Given the description of an element on the screen output the (x, y) to click on. 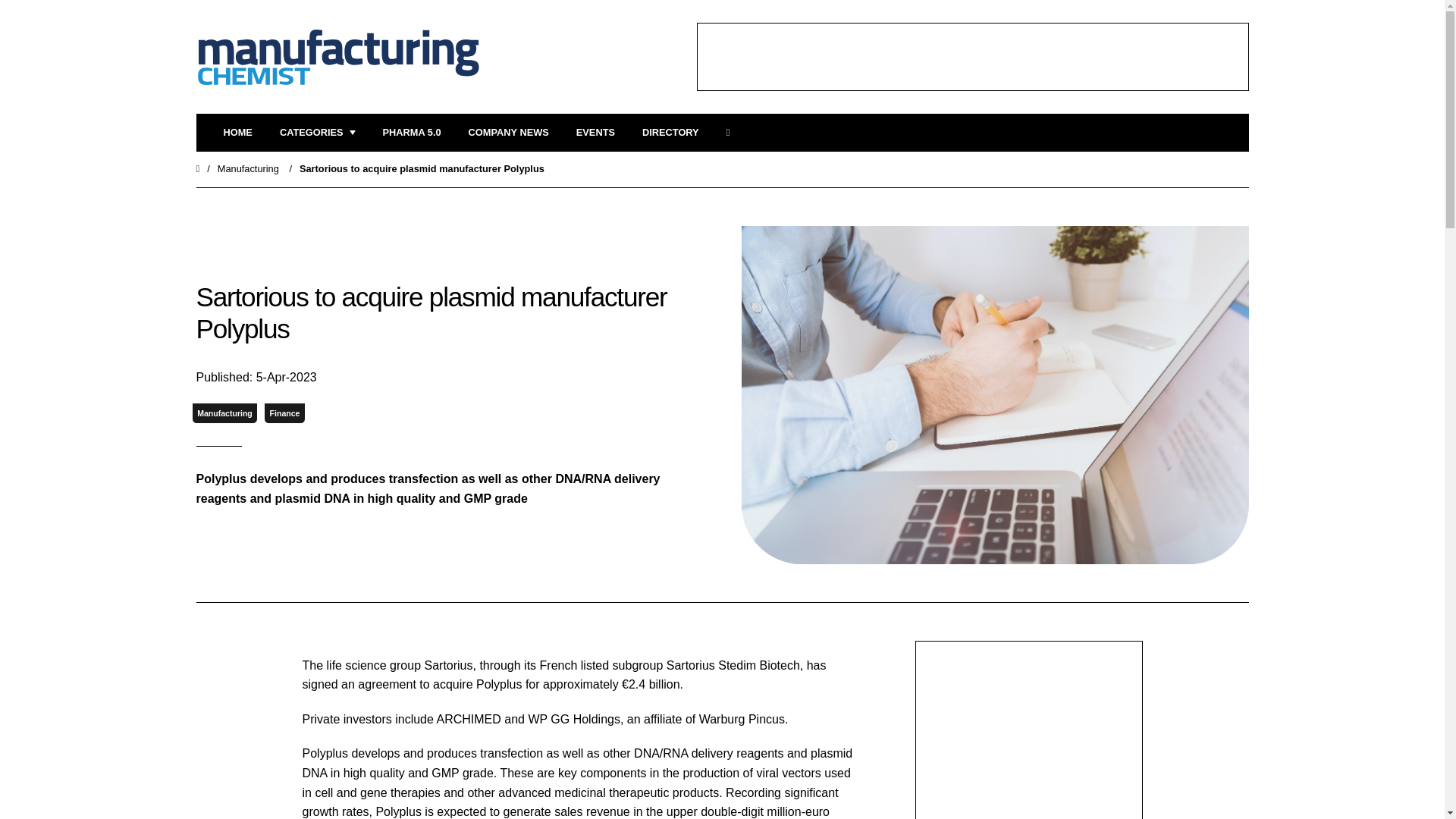
Manufacturing (247, 168)
Pharma 5.0 (411, 133)
SEARCH (732, 133)
DIRECTORY (670, 133)
EVENTS (595, 133)
Finance (284, 413)
Directory (670, 133)
Manufacturing (224, 413)
CATEGORIES (317, 133)
HOME (236, 133)
